Given the description of an element on the screen output the (x, y) to click on. 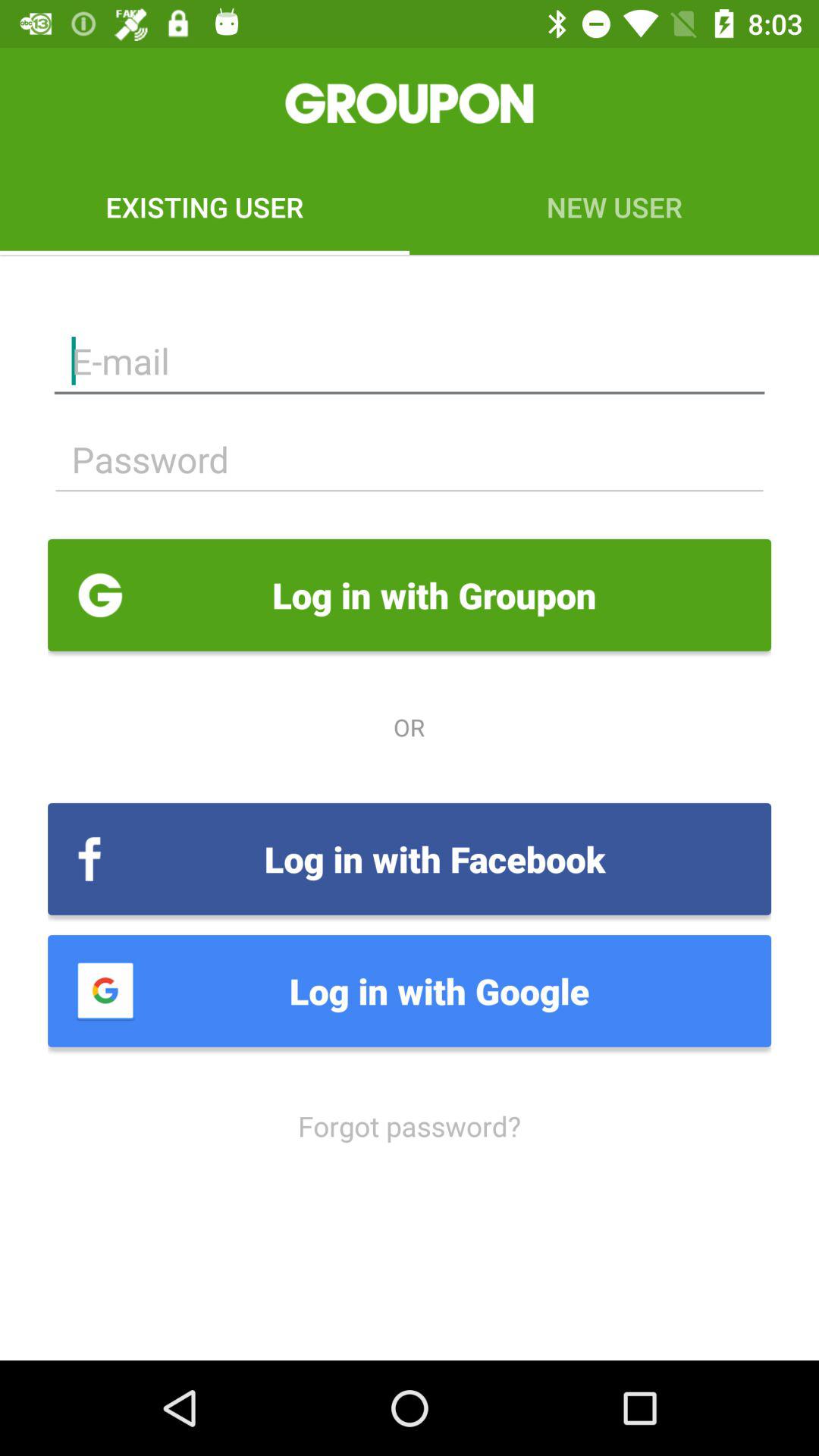
choose forgot password? icon (409, 1126)
